Given the description of an element on the screen output the (x, y) to click on. 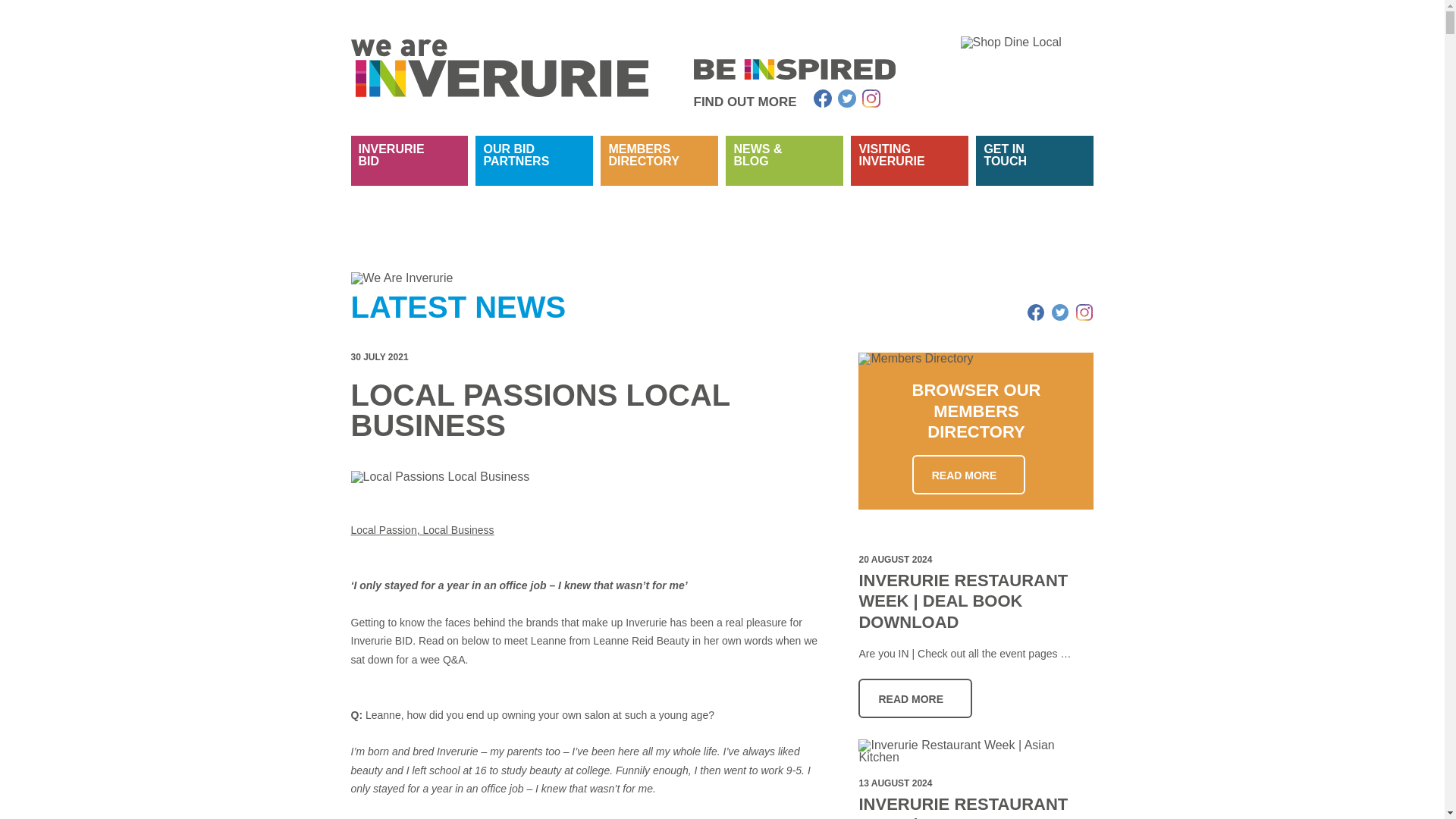
READ MORE (534, 171)
READ MORE (915, 697)
